Given the description of an element on the screen output the (x, y) to click on. 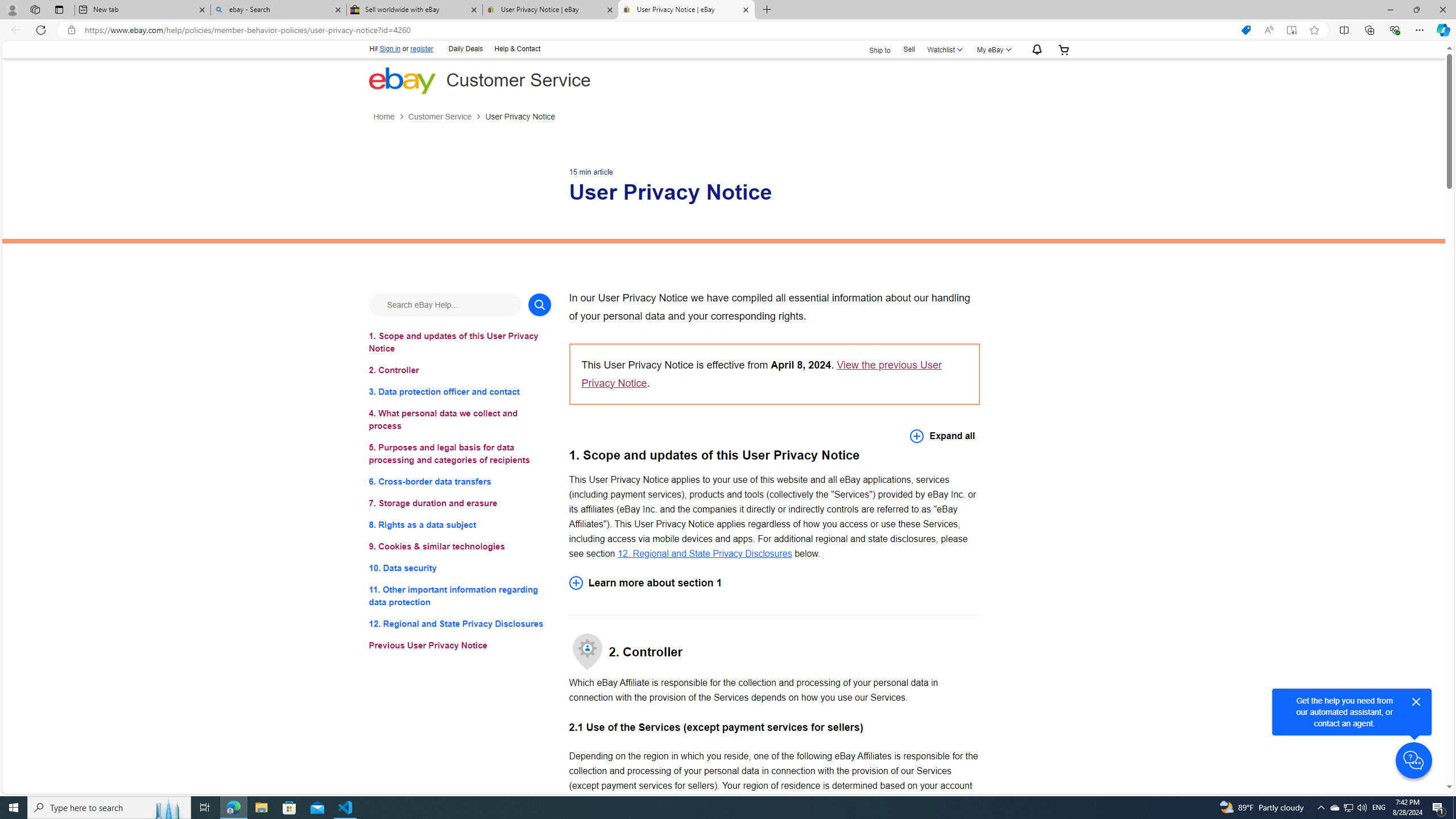
2. Controller (459, 369)
Ship to (872, 48)
Search eBay Help... (444, 304)
7. Storage duration and erasure (459, 503)
Your shopping cart (1064, 49)
12. Regional and State Privacy Disclosures (459, 623)
WatchlistExpand Watch List (943, 49)
Daily Deals (465, 48)
Sign in (390, 49)
Customer Service (446, 117)
8. Rights as a data subject (459, 524)
This site has coupons! Shopping in Microsoft Edge (1245, 29)
